Given the description of an element on the screen output the (x, y) to click on. 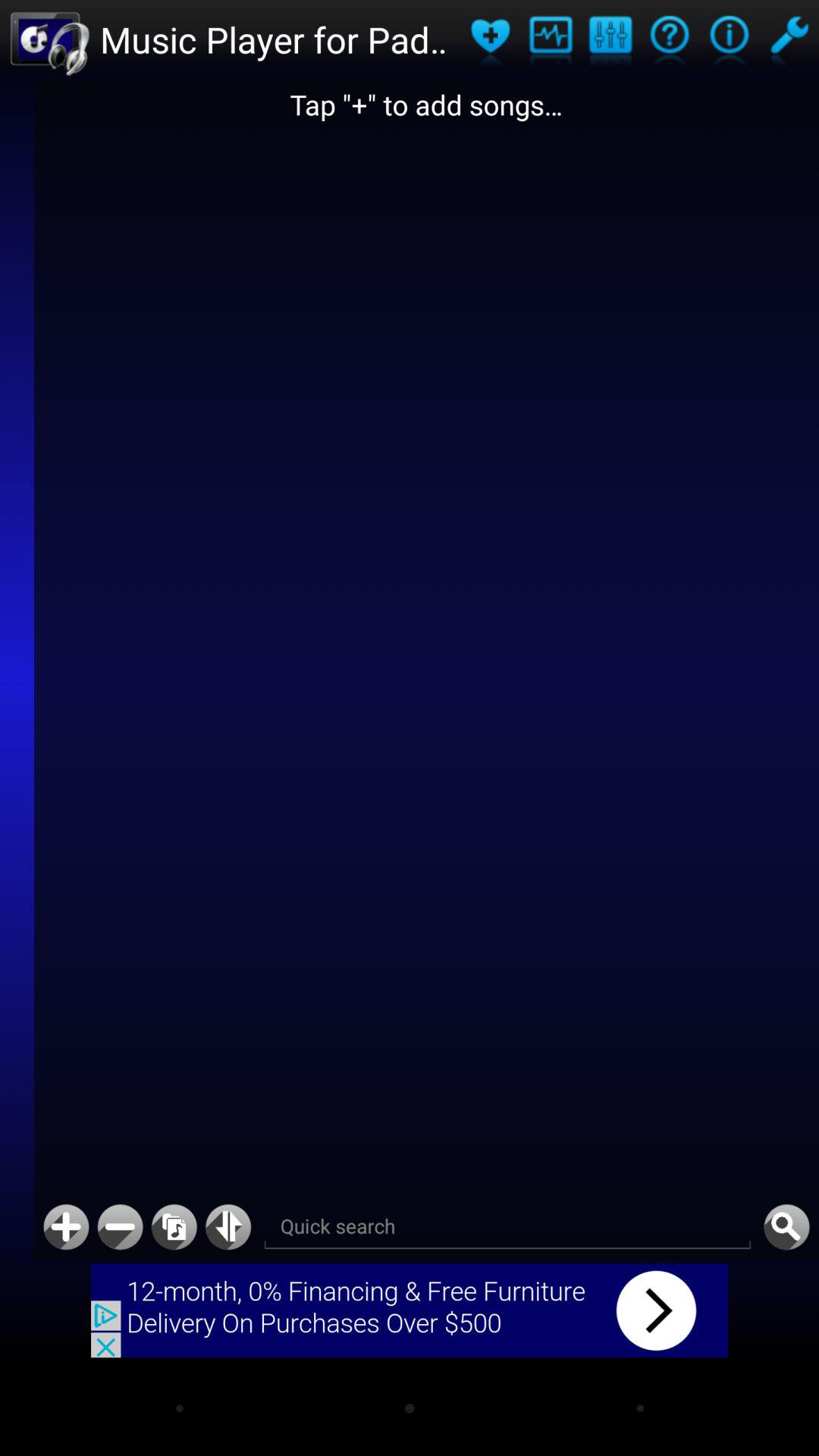
decrease audio (120, 1226)
